Given the description of an element on the screen output the (x, y) to click on. 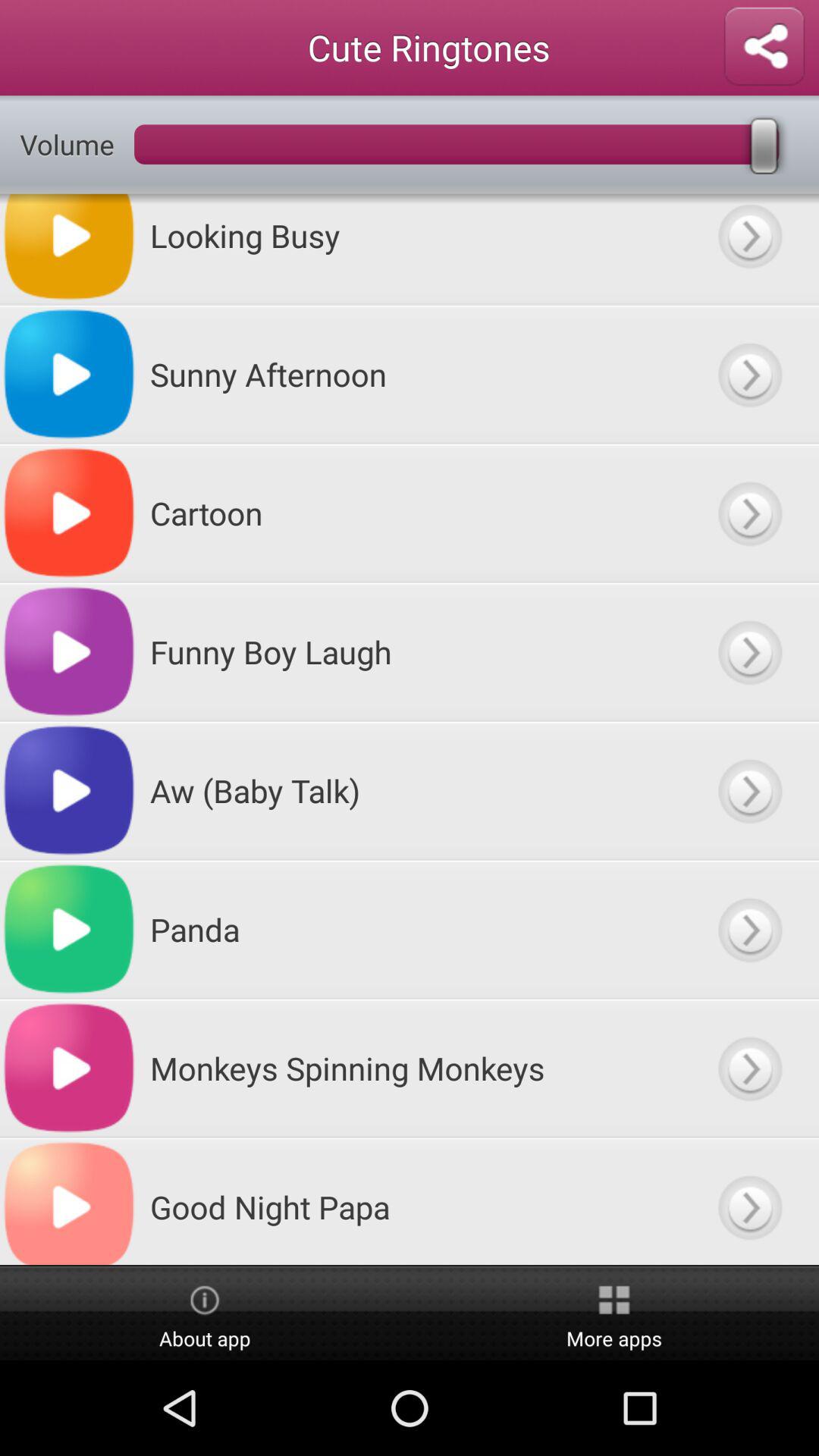
go to next user (749, 248)
